Given the description of an element on the screen output the (x, y) to click on. 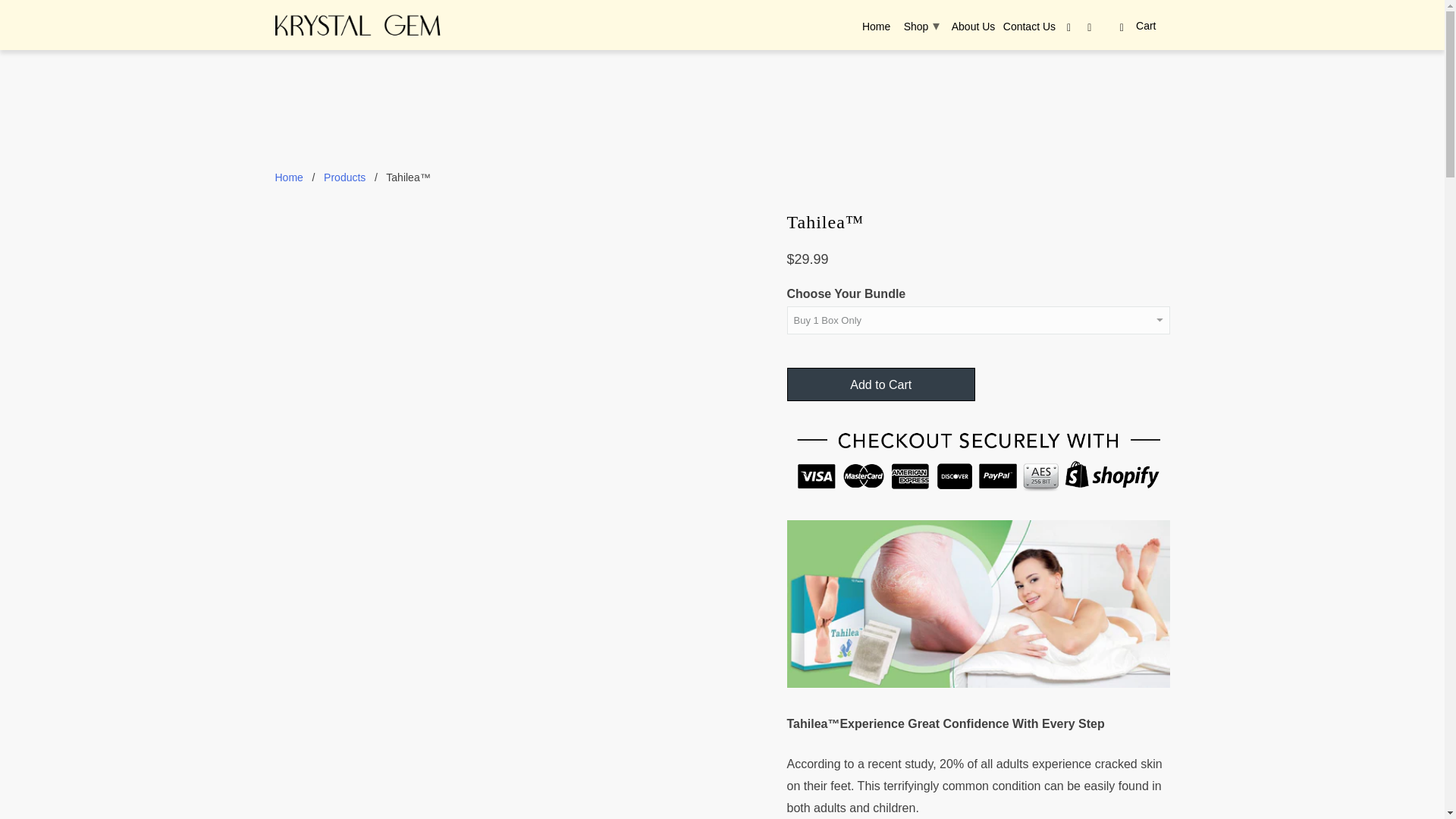
Add to Cart (881, 384)
About Us (973, 29)
Products (344, 177)
Krystal Gem (358, 23)
Contact Us (1029, 29)
Home (875, 29)
Cart (1136, 26)
Home (288, 177)
Products (344, 177)
Krystal Gem (288, 177)
